Given the description of an element on the screen output the (x, y) to click on. 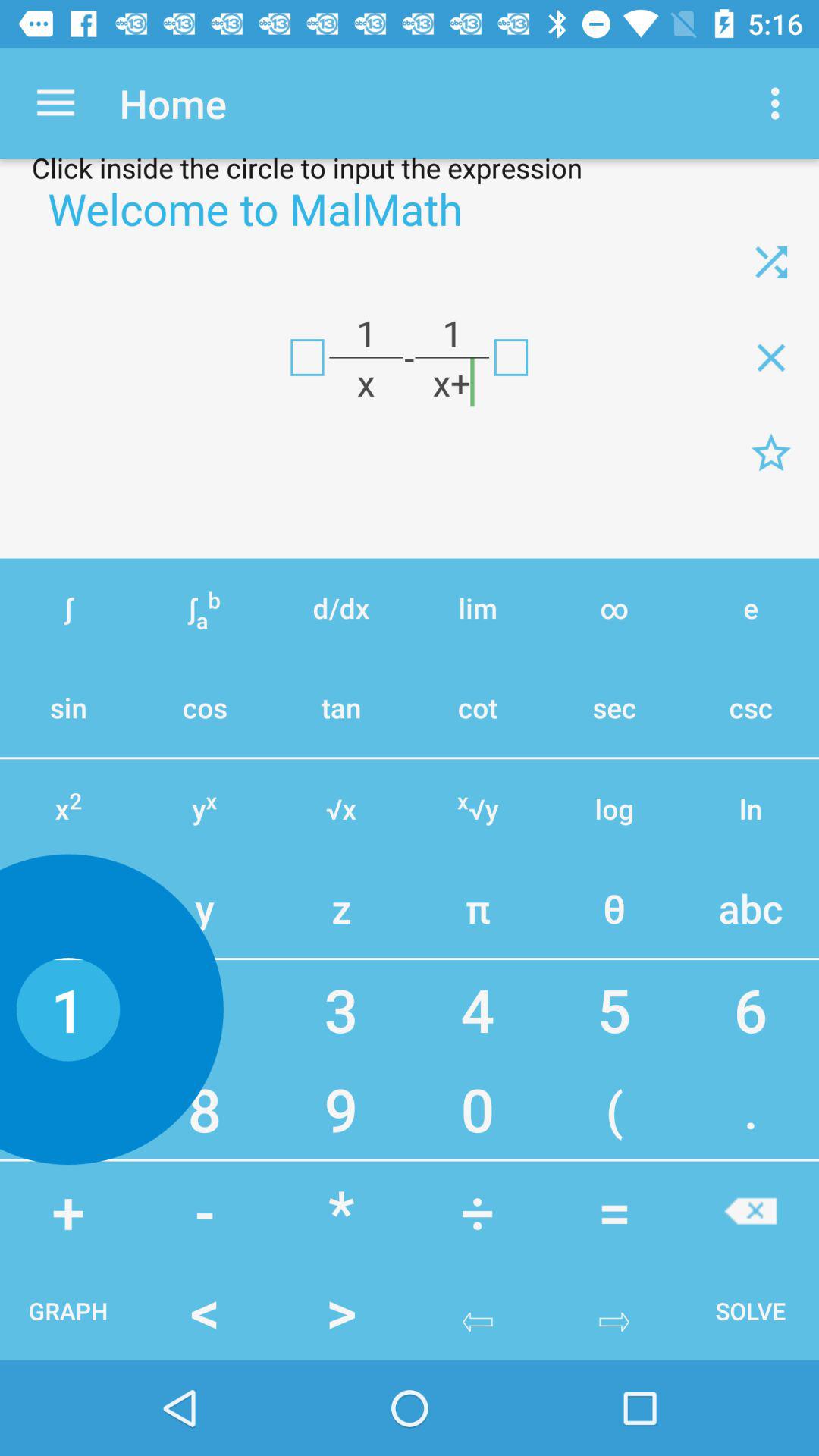
delete (771, 357)
